Given the description of an element on the screen output the (x, y) to click on. 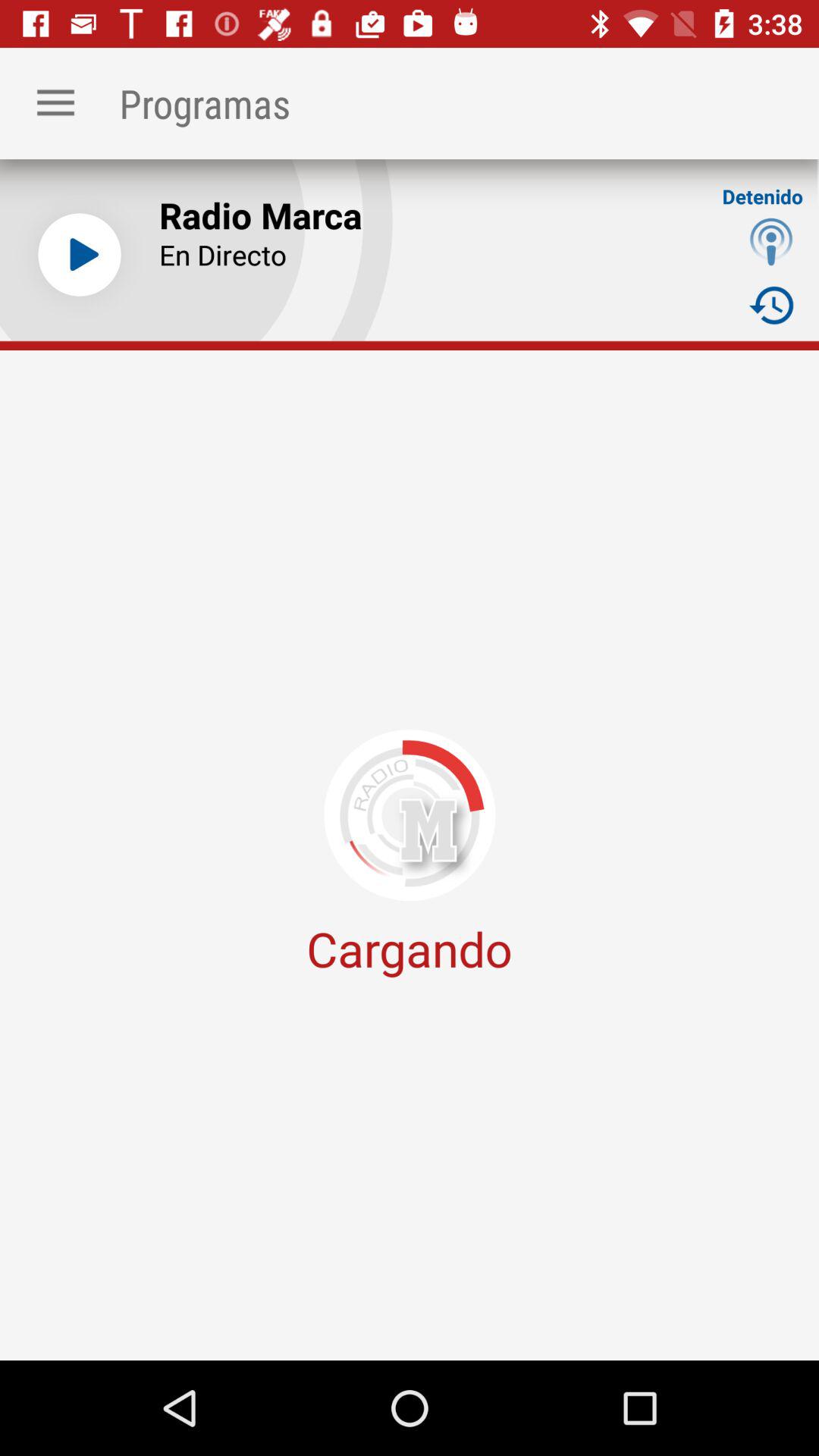
launch item next to en directo icon (771, 305)
